Given the description of an element on the screen output the (x, y) to click on. 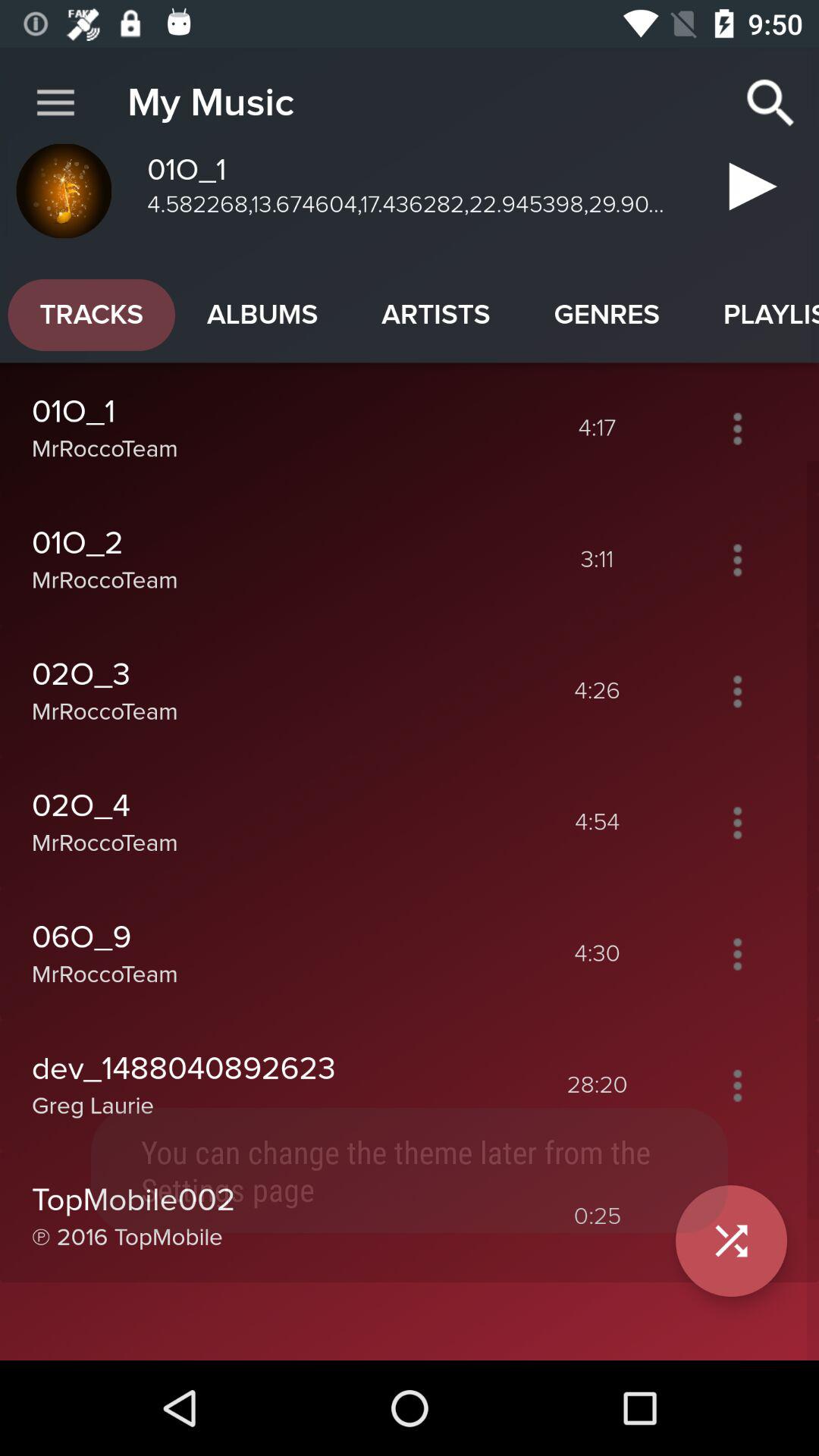
view more options (737, 822)
